Given the description of an element on the screen output the (x, y) to click on. 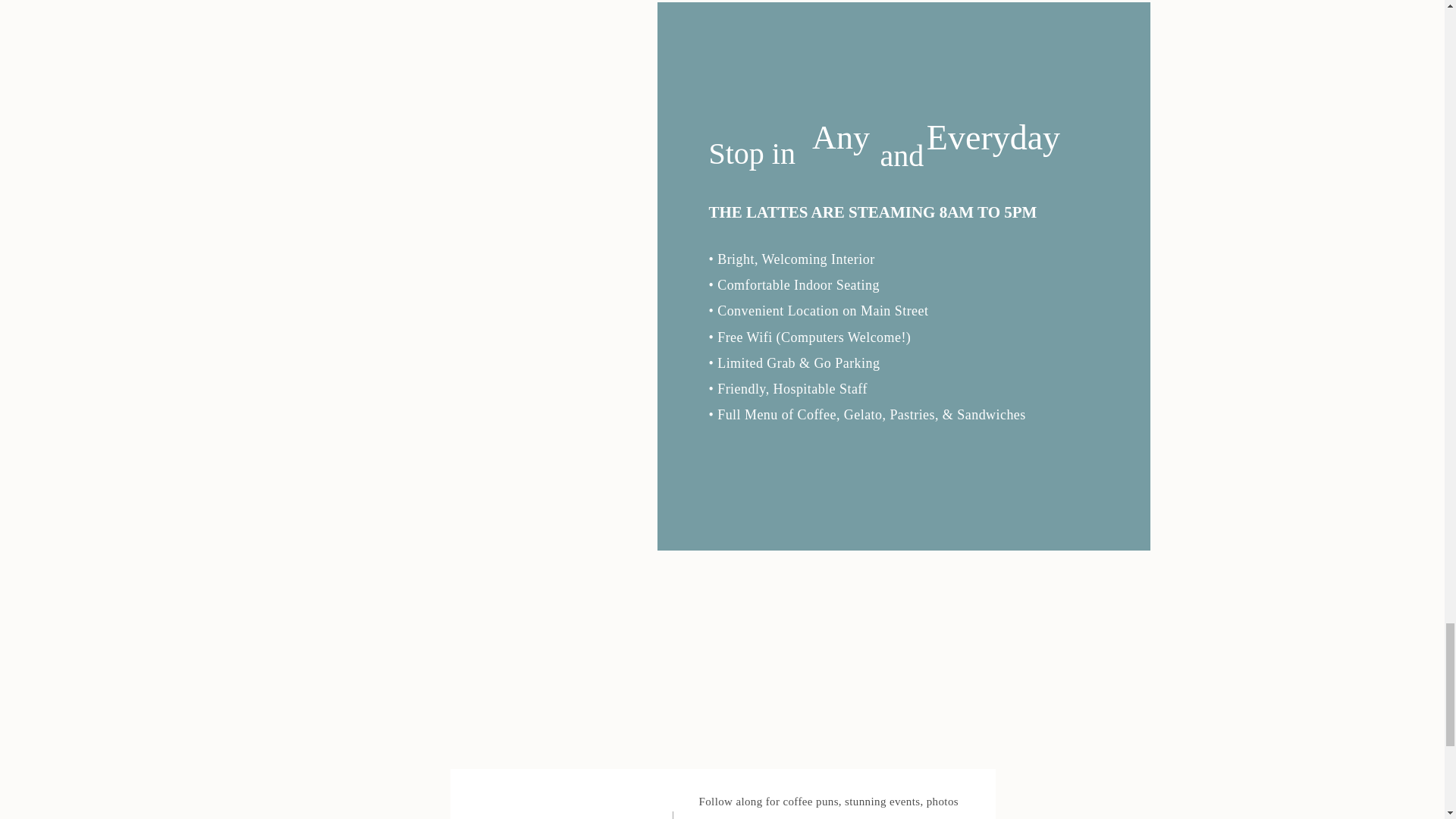
THE LATTES ARE STEAMING 8AM TO 5PM (898, 210)
